Given the description of an element on the screen output the (x, y) to click on. 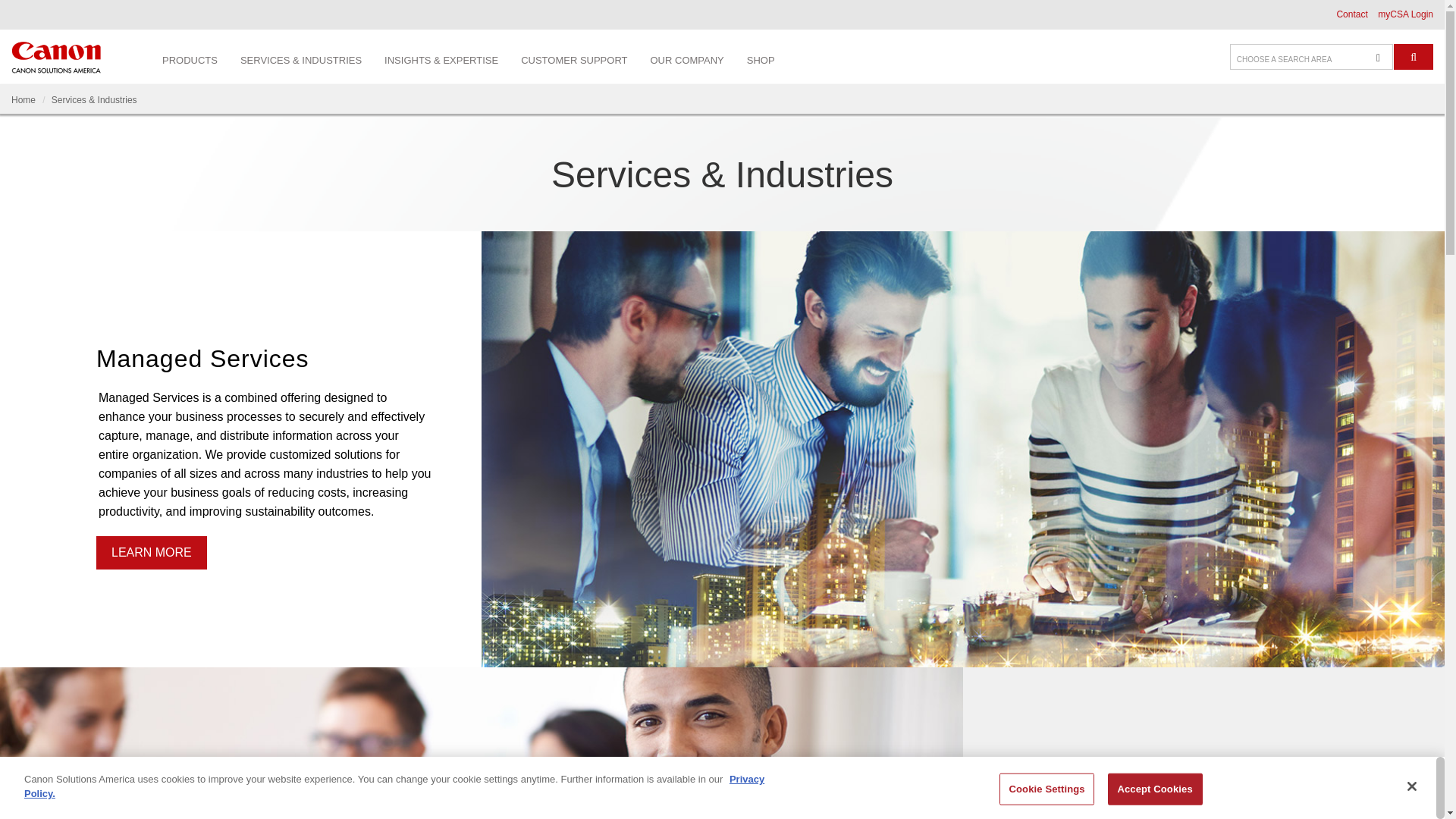
Contact (1351, 14)
SHOP (760, 58)
PRODUCTS (189, 58)
Home (22, 100)
CUSTOMER SUPPORT (574, 58)
myCSA Login (1404, 14)
OUR COMPANY (687, 58)
